Given the description of an element on the screen output the (x, y) to click on. 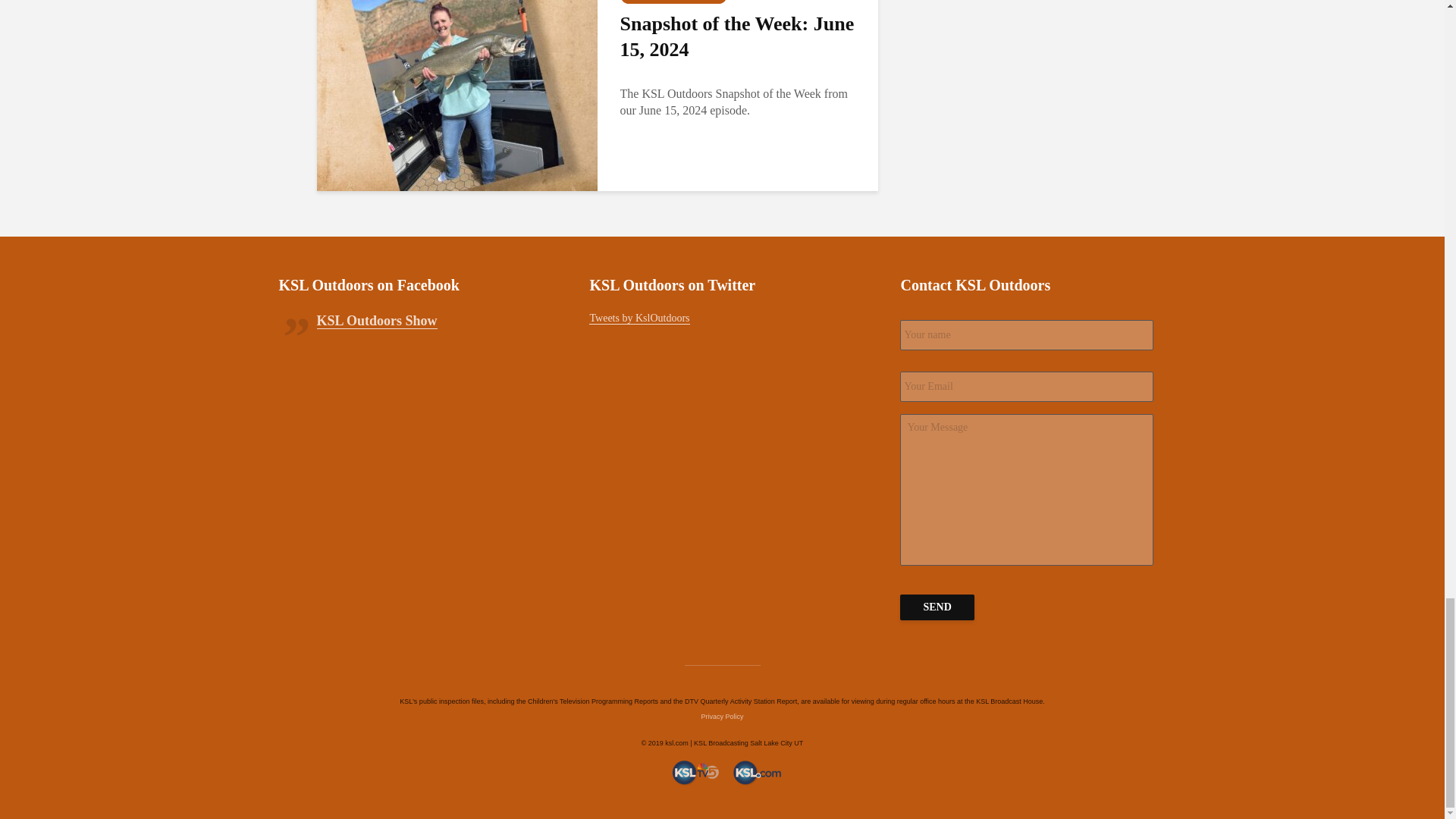
Privacy Policy (721, 716)
Snapshot of the Week: June 15, 2024 (456, 75)
SNAPSHOT OF THE WEEK (674, 2)
Send (936, 606)
